Given the description of an element on the screen output the (x, y) to click on. 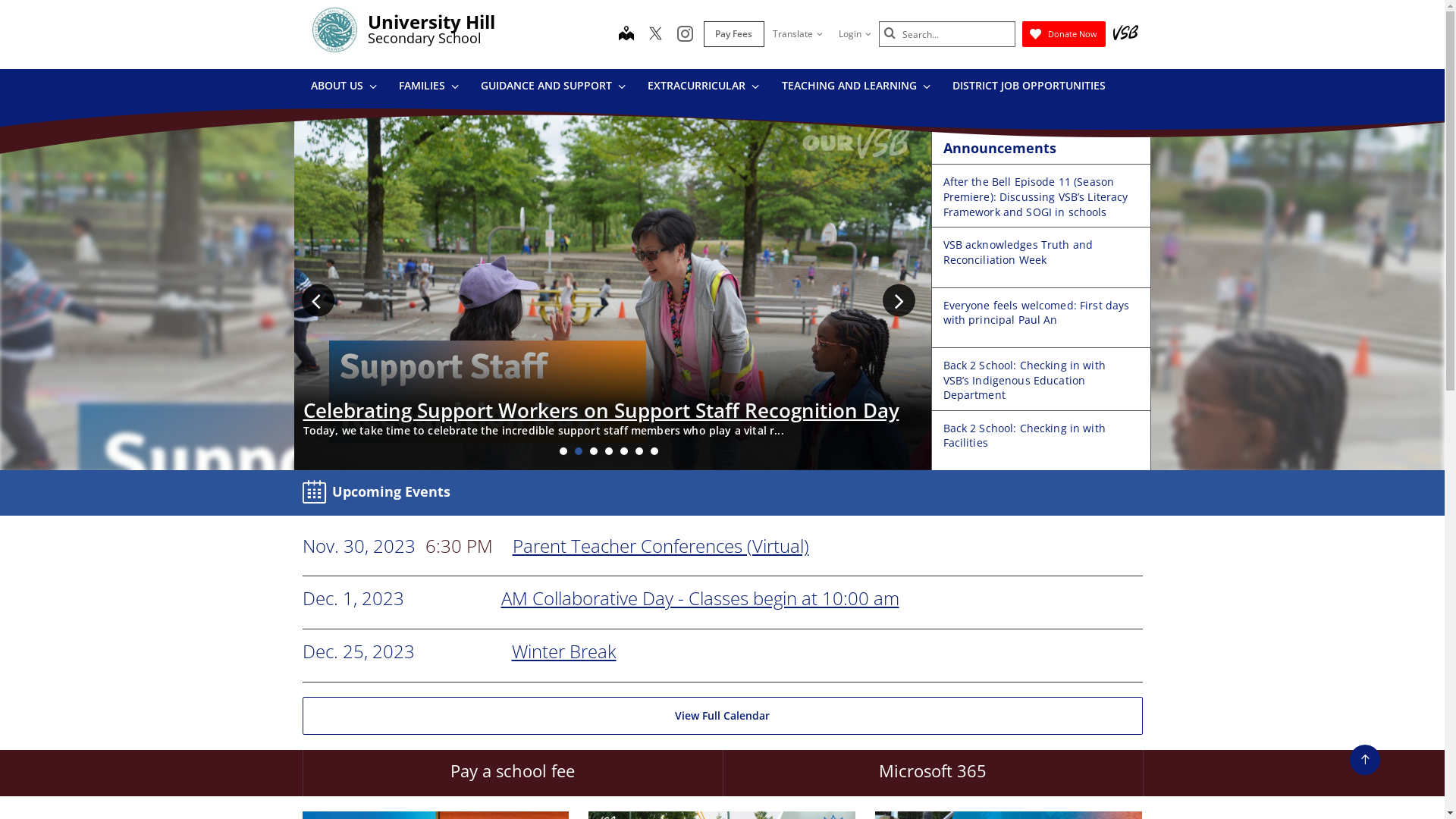
Dec. 25, 2023 Element type: text (357, 651)
instagram Element type: text (684, 34)
Everyone feels welcomed: First days with principal Paul An Element type: text (1036, 312)
Upcoming Events Element type: text (379, 492)
View Full Calendar Element type: text (721, 715)
map Element type: text (625, 34)
ABOUT US Element type: text (342, 88)
Pay Fees Element type: text (733, 34)
Dec. 1, 2023 Element type: text (352, 598)
EXTRACURRICULAR Element type: text (702, 88)
Translate Element type: text (797, 33)
Nov. 30, 2023 Element type: text (357, 546)
Donate Now Element type: text (1063, 34)
FAMILIES Element type: text (428, 88)
Celebrating Support Workers on Support Staff Recognition Day Element type: text (601, 409)
Submit Element type: text (889, 33)
Pay a school fee Element type: text (511, 773)
1 Element type: text (563, 451)
AM Collaborative Day - Classes begin at 10:00 am Element type: text (699, 597)
6 Element type: text (639, 451)
Login Element type: text (853, 33)
VSB acknowledges Truth and Reconciliation Week Element type: text (1018, 251)
TEACHING AND LEARNING Element type: text (855, 88)
Back 2 School: Checking in with Facilities Element type: text (1024, 435)
Winter Break Element type: text (563, 650)
Parent Teacher Conferences (Virtual) Element type: text (660, 545)
4 Element type: text (608, 451)
Microsoft 365 Element type: text (931, 773)
7 Element type: text (654, 451)
DISTRICT JOB OPPORTUNITIES Element type: text (1028, 88)
Go to top Element type: text (1364, 759)
3 Element type: text (593, 451)
University Hill Element type: text (430, 21)
2 Element type: text (578, 451)
5 Element type: text (623, 451)
GUIDANCE AND SUPPORT Element type: text (552, 88)
